Given the description of an element on the screen output the (x, y) to click on. 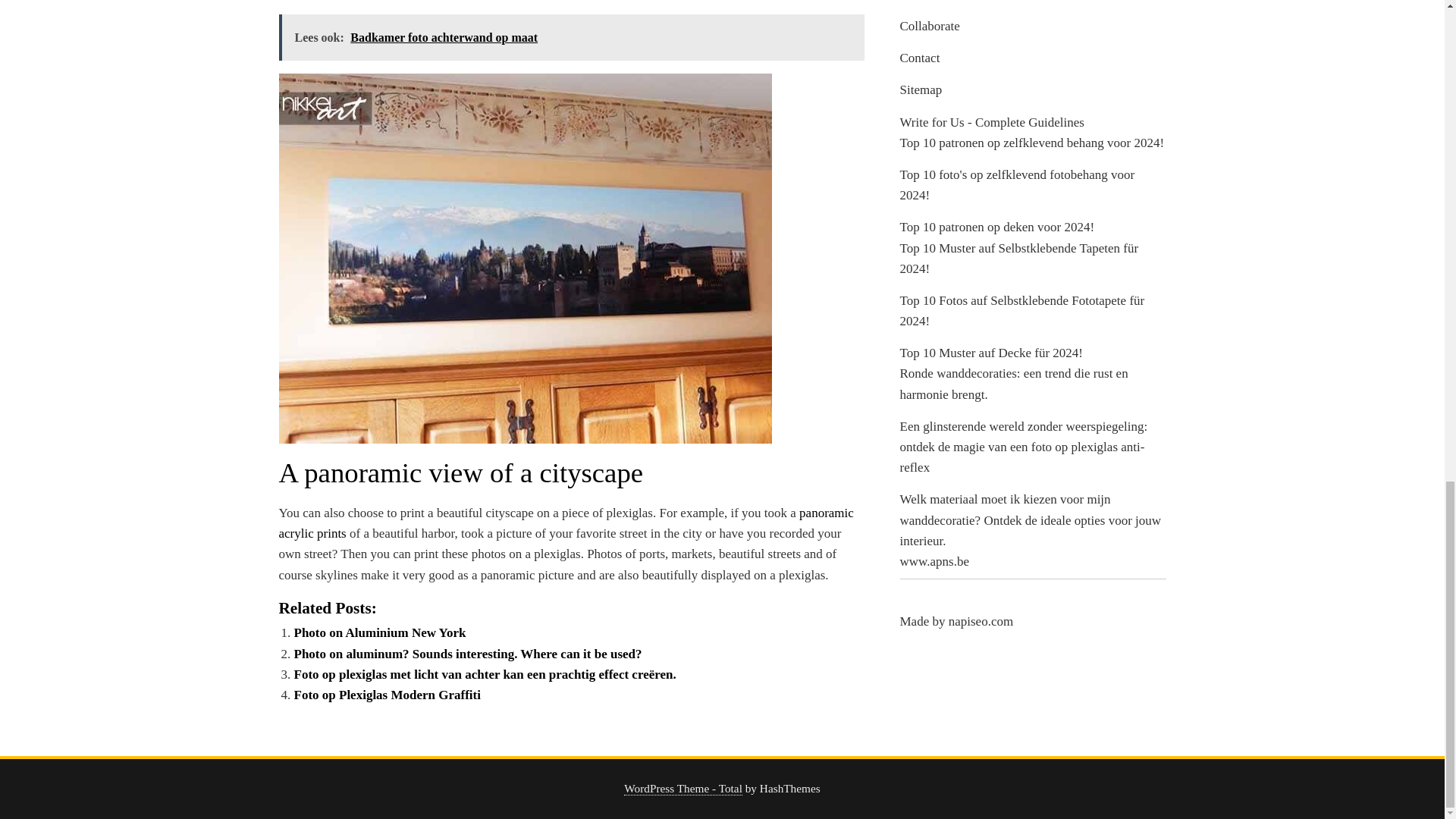
Photo on Aluminium New York (379, 632)
Photo on aluminum? Sounds interesting. Where can it be used? (468, 653)
panoramic acrylic prints (566, 523)
Foto op Plexiglas Modern Graffiti (387, 694)
Photo on Aluminium New York (379, 632)
panoramic acrylic prints (566, 523)
Lees ook:  Badkamer foto achterwand op maat (571, 37)
Photo on aluminum? Sounds interesting. Where can it be used? (468, 653)
Foto op Plexiglas Modern Graffiti (387, 694)
